Given the description of an element on the screen output the (x, y) to click on. 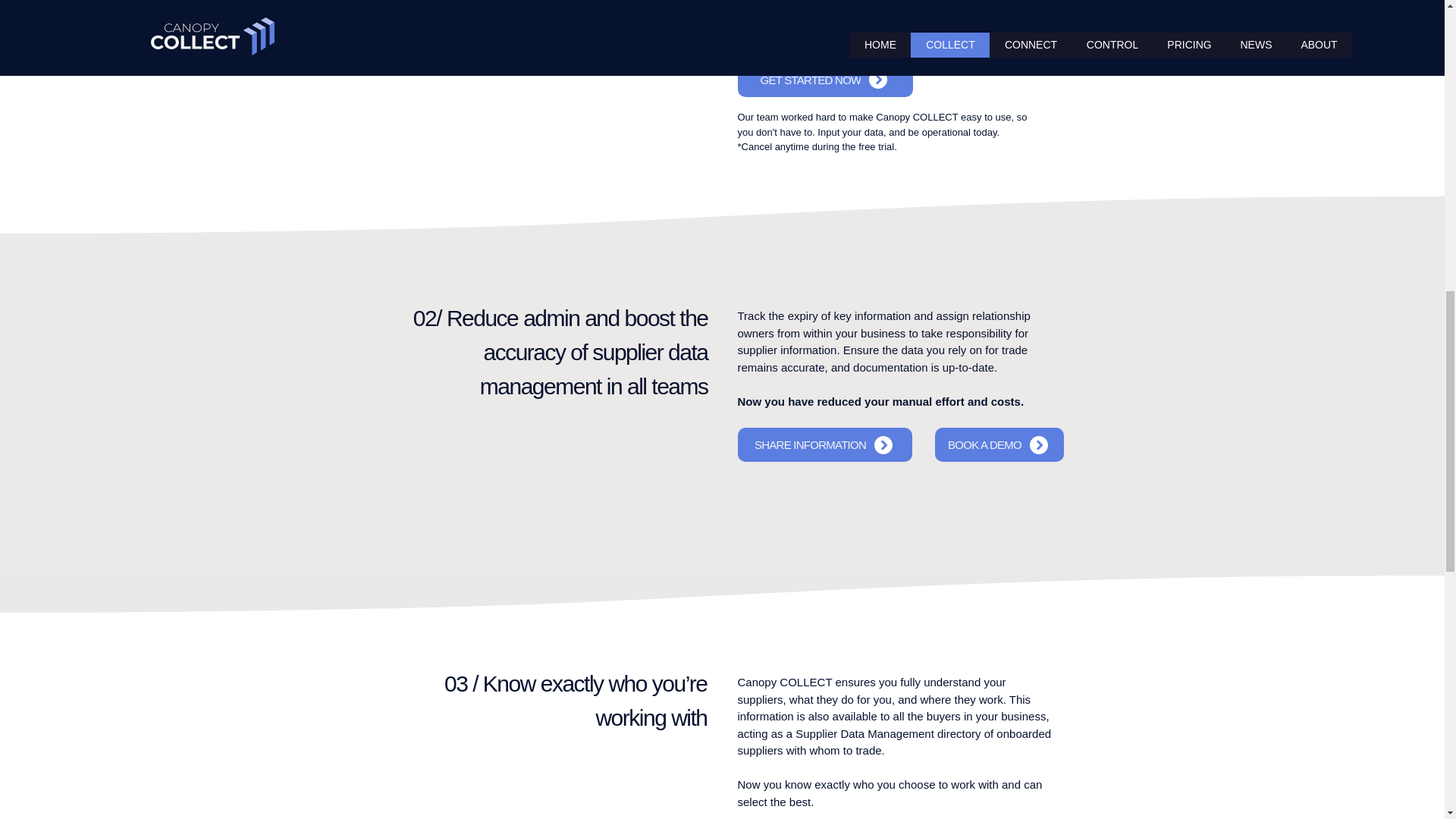
SHARE INFORMATION (823, 444)
GET STARTED NOW (824, 79)
BOOK A DEMO (998, 444)
